Given the description of an element on the screen output the (x, y) to click on. 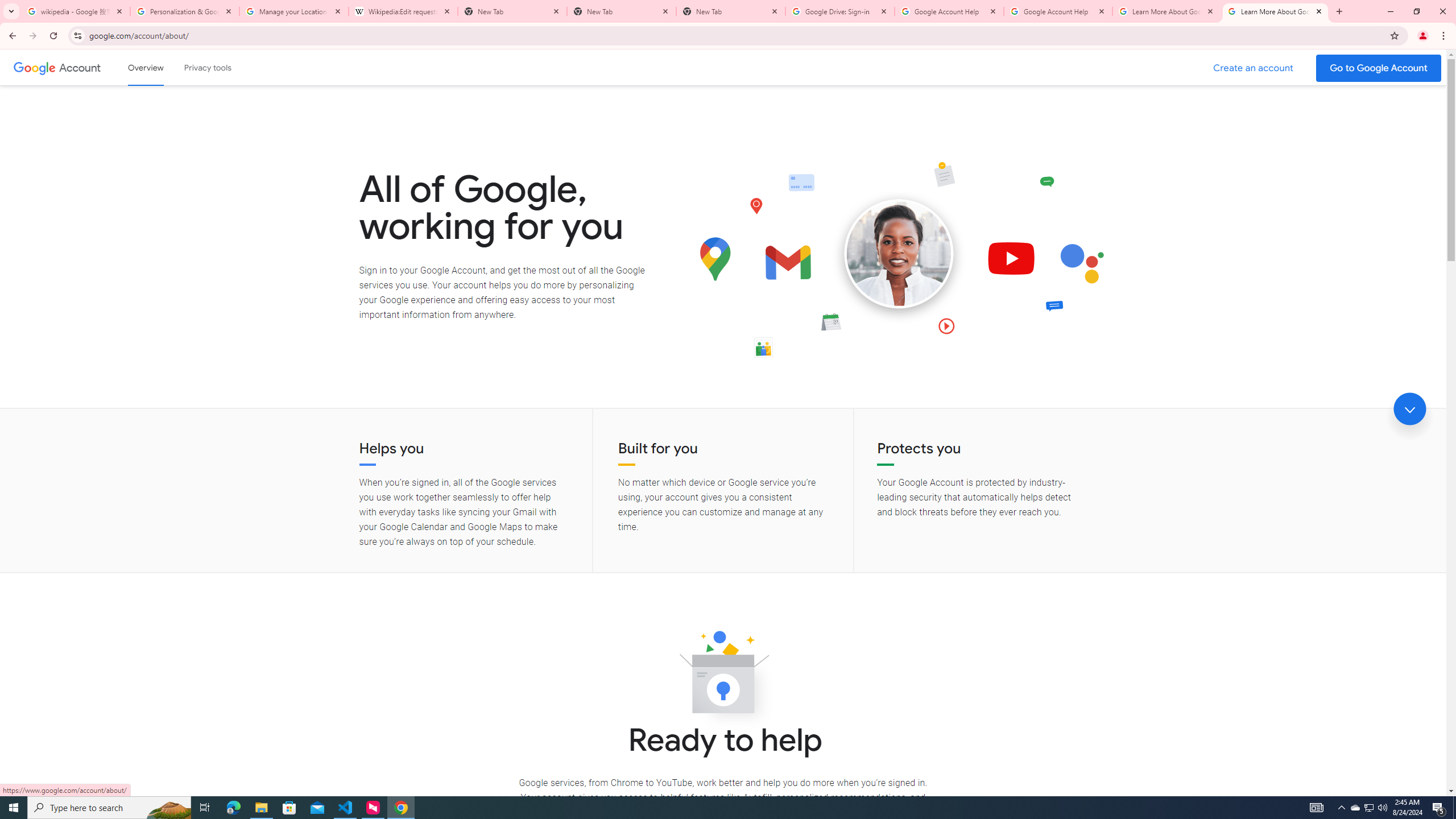
New Tab (730, 11)
Create a Google Account (1253, 67)
New Tab (621, 11)
Google Account Help (1058, 11)
Go to your Google Account (1378, 67)
Skip to Content (162, 65)
